Given the description of an element on the screen output the (x, y) to click on. 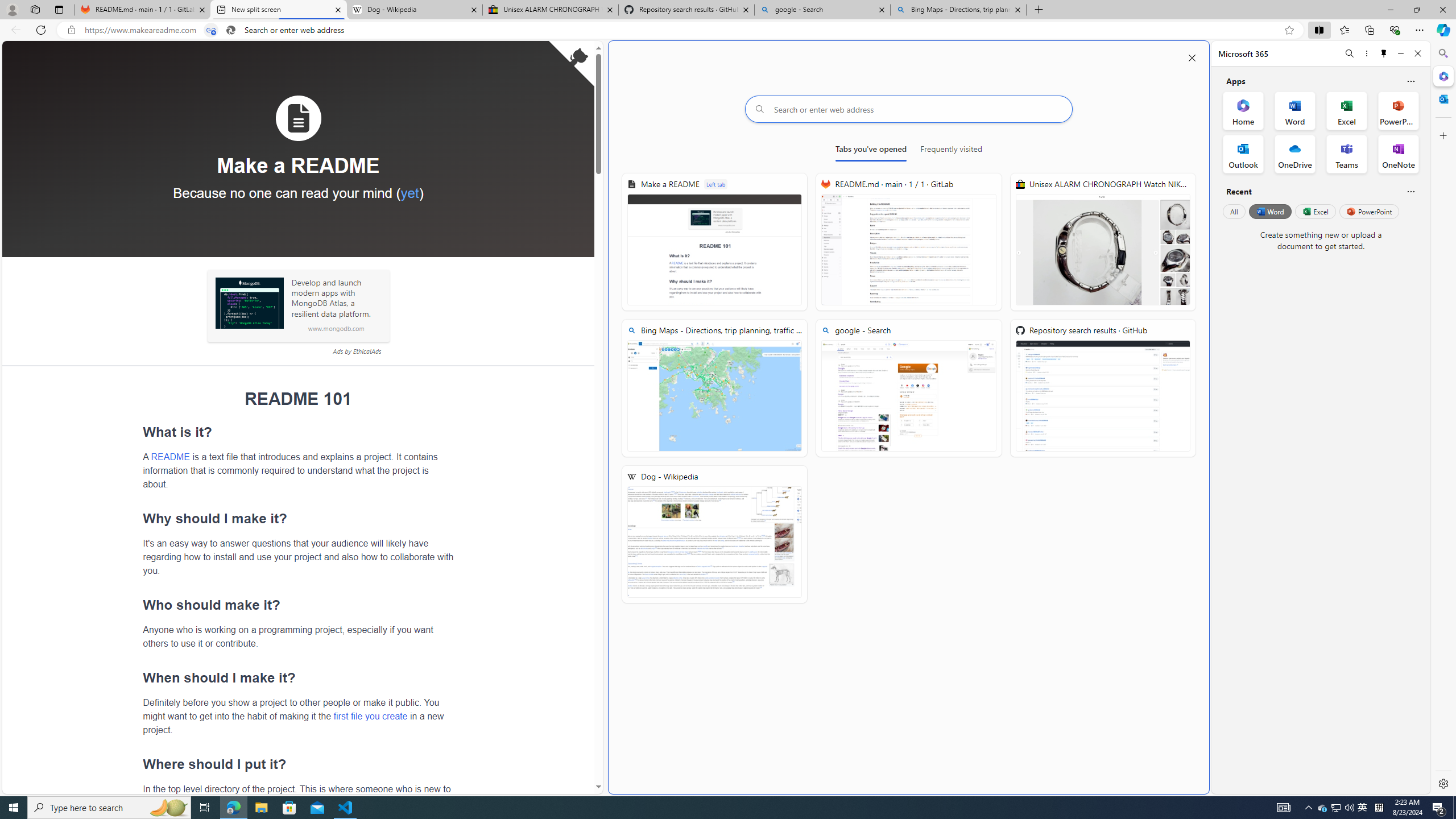
Tabs in split screen (210, 29)
Home Office App (1243, 110)
Word Office App (1295, 110)
Close split screen (1192, 57)
Excel Office App (1346, 110)
PowerPoint (1369, 210)
first file you create (370, 715)
yet (409, 192)
Sponsored: MongoDB (249, 302)
